Given the description of an element on the screen output the (x, y) to click on. 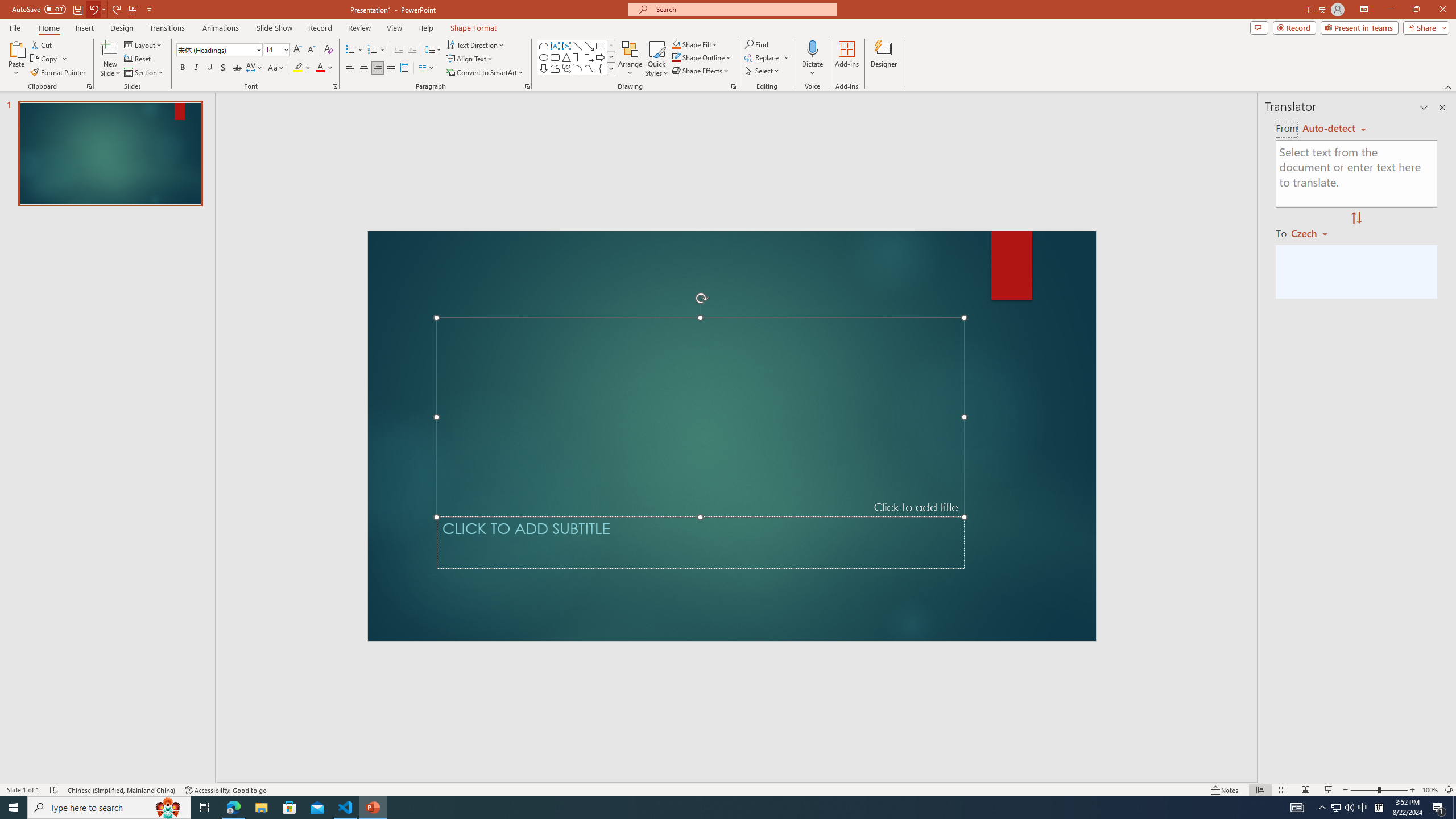
Rectangle: Top Corners Snipped (543, 45)
